Given the description of an element on the screen output the (x, y) to click on. 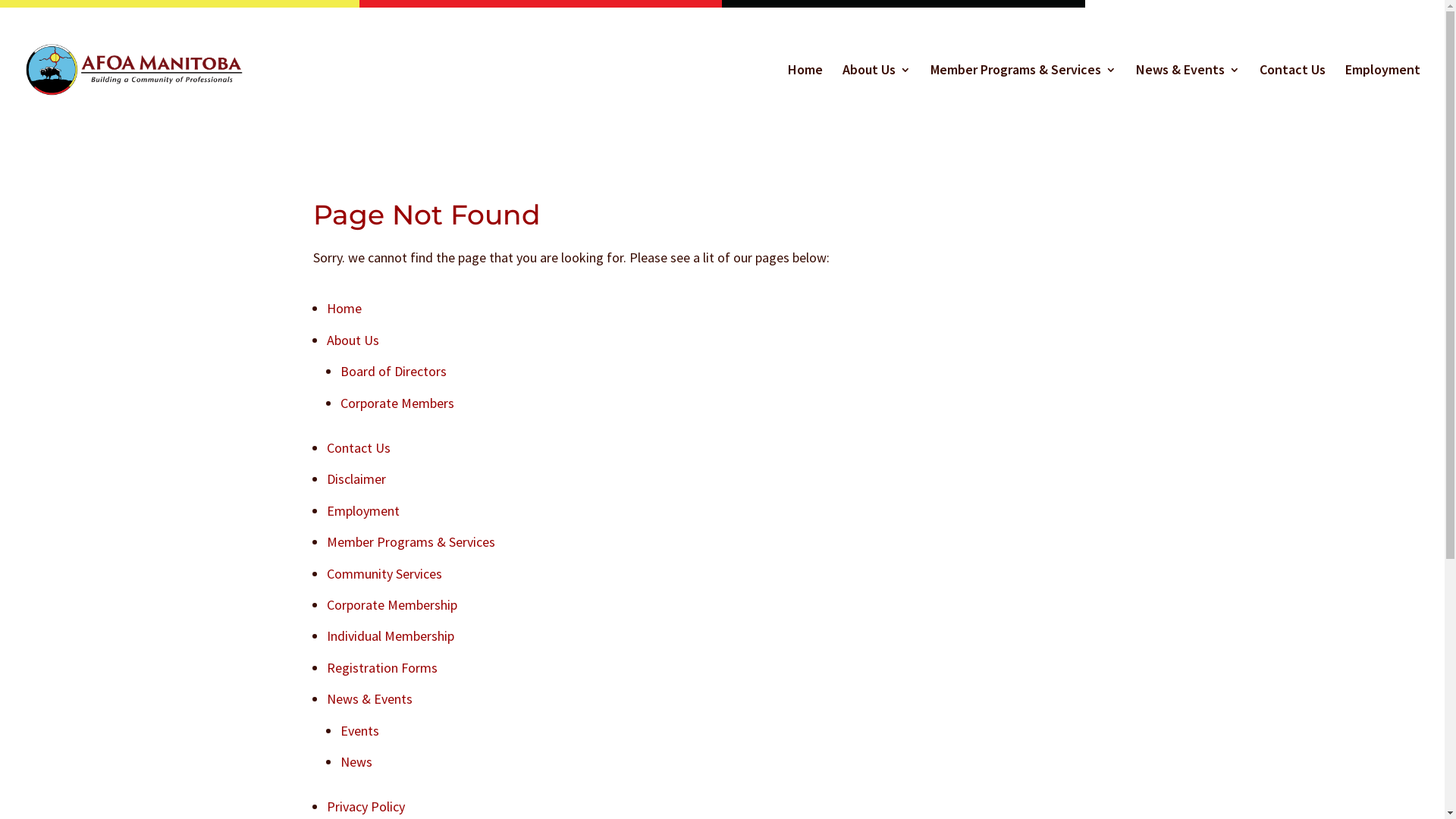
Member Programs & Services Element type: text (1023, 97)
Contact Us Element type: text (357, 447)
Events Element type: text (358, 730)
Privacy Policy Element type: text (365, 806)
About Us Element type: text (876, 97)
Home Element type: text (343, 307)
News Element type: text (355, 761)
Home Element type: text (804, 97)
Individual Membership Element type: text (389, 635)
Community Services Element type: text (383, 573)
News & Events Element type: text (1187, 97)
Corporate Members Element type: text (396, 402)
Contact Us Element type: text (1292, 97)
Board of Directors Element type: text (392, 370)
Corporate Membership Element type: text (391, 604)
Employment Element type: text (1382, 97)
About Us Element type: text (352, 339)
Member Programs & Services Element type: text (410, 541)
Registration Forms Element type: text (381, 667)
Disclaimer Element type: text (355, 478)
Employment Element type: text (362, 510)
News & Events Element type: text (368, 698)
